Given the description of an element on the screen output the (x, y) to click on. 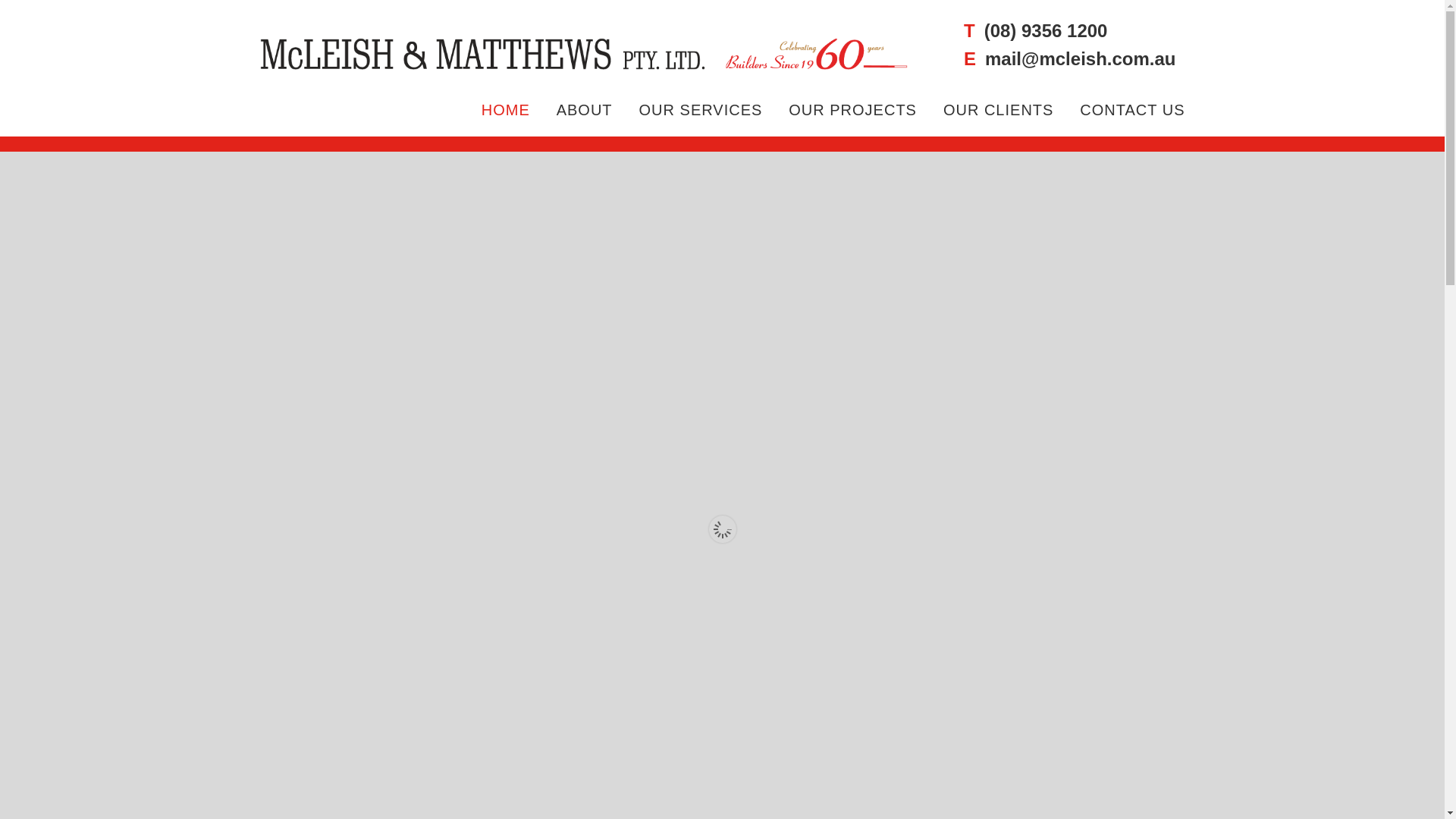
ABOUT Element type: text (584, 109)
HOME Element type: text (505, 109)
(08) 9356 1200 Element type: text (1046, 30)
OUR CLIENTS Element type: text (998, 109)
mail@mcleish.com.au Element type: text (1080, 58)
CONTACT US Element type: text (1131, 109)
OUR SERVICES Element type: text (700, 109)
OUR PROJECTS Element type: text (852, 109)
